Given the description of an element on the screen output the (x, y) to click on. 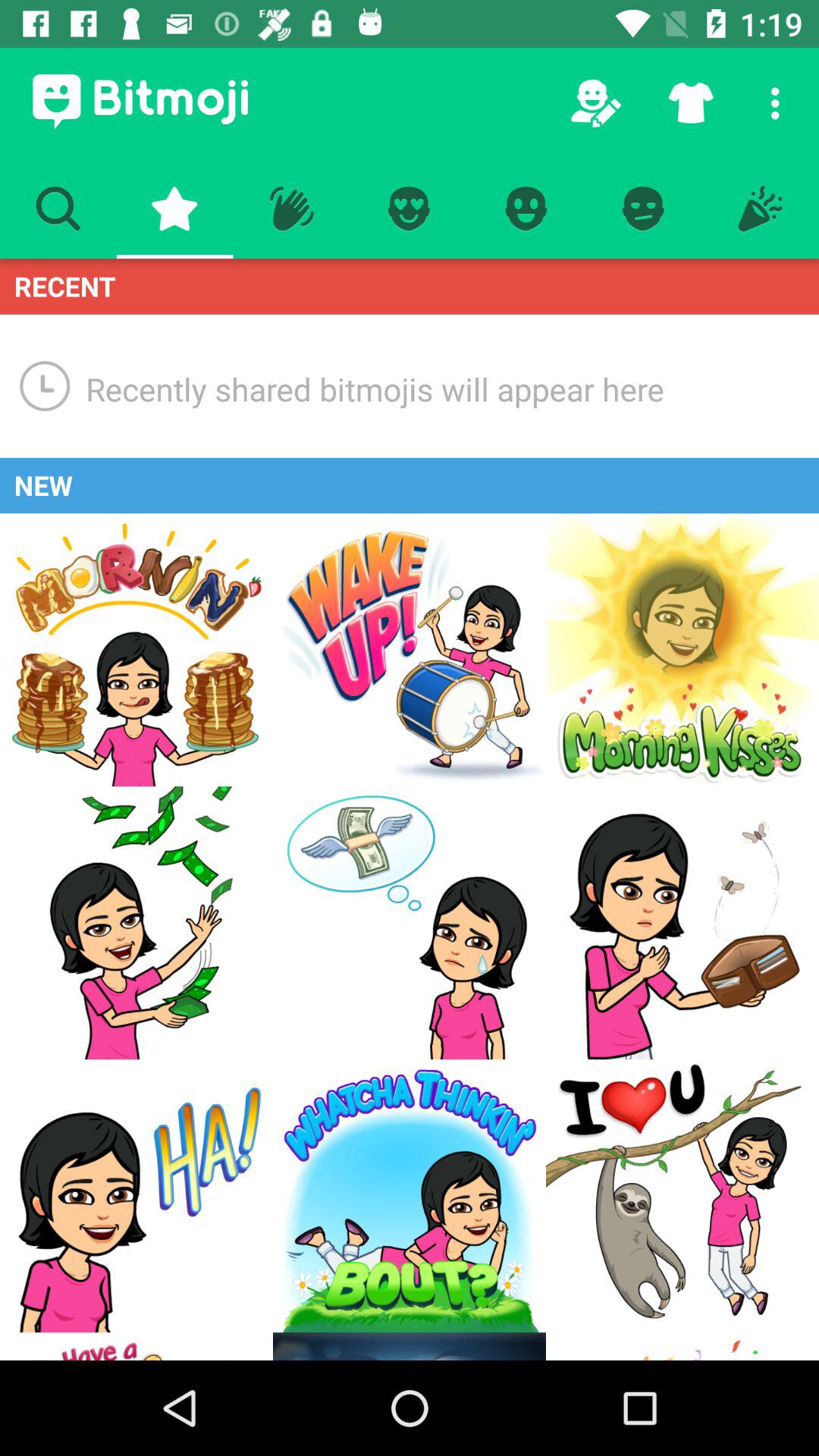
select the bitmoji (136, 1346)
